Given the description of an element on the screen output the (x, y) to click on. 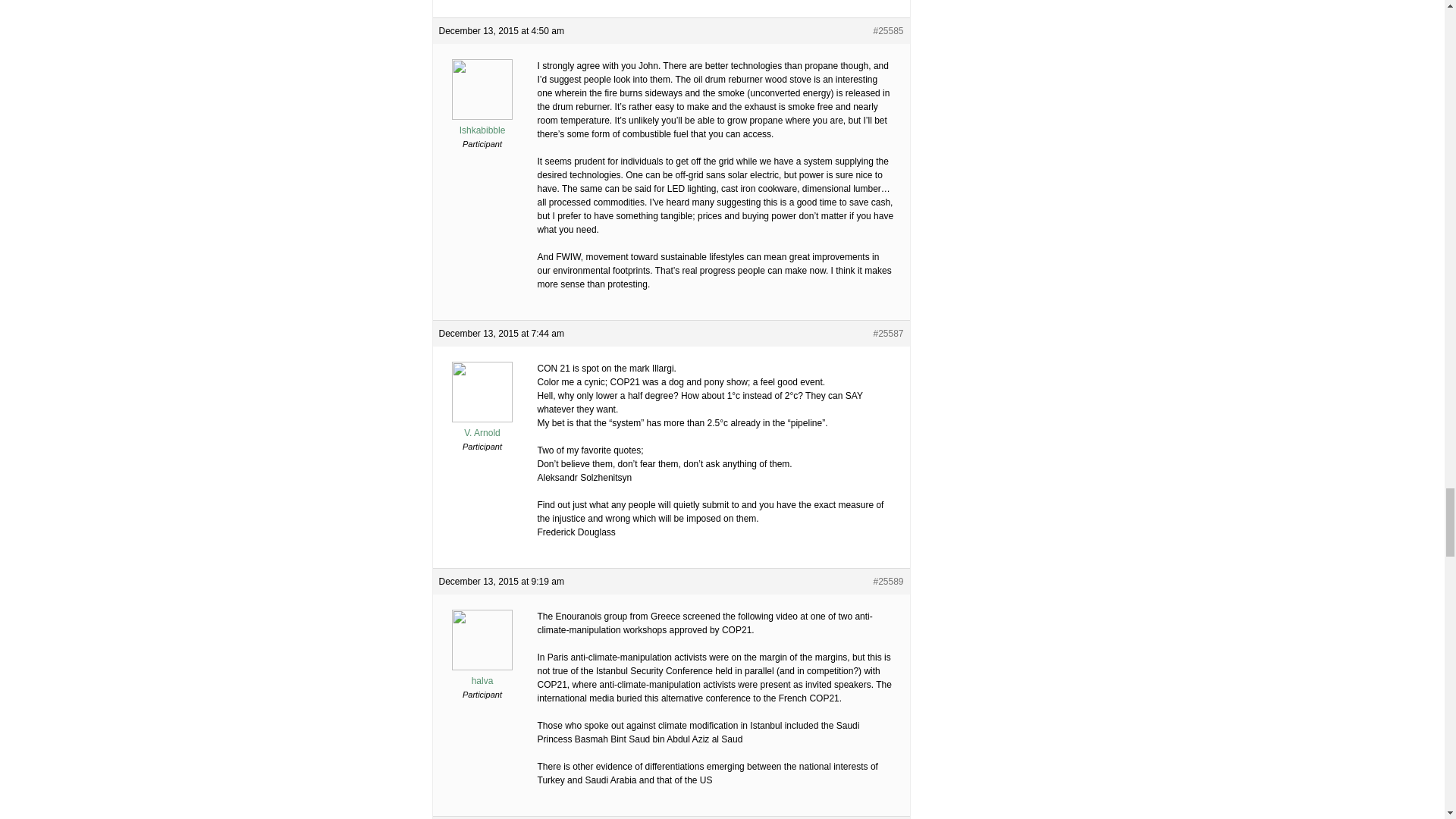
View V. Arnold's profile (481, 426)
View Ishkabibble's profile (481, 124)
View halva's profile (481, 674)
